Given the description of an element on the screen output the (x, y) to click on. 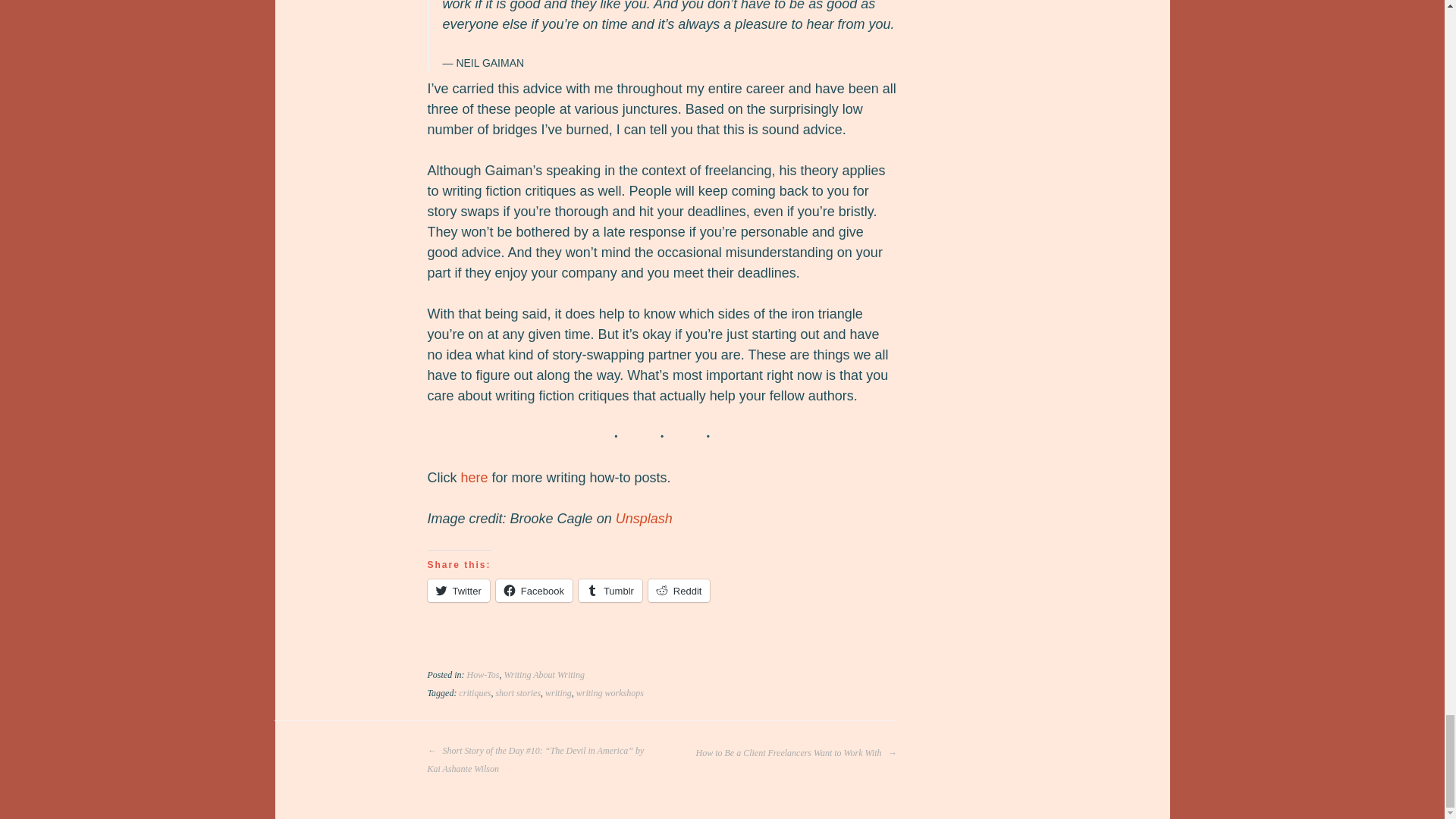
How-Tos (483, 674)
Unsplash (643, 518)
critiques (474, 692)
Facebook (534, 590)
short stories (517, 692)
Reddit (678, 590)
Click to share on Twitter (458, 590)
Tumblr (610, 590)
Click to share on Tumblr (610, 590)
Click to share on Reddit (678, 590)
